Given the description of an element on the screen output the (x, y) to click on. 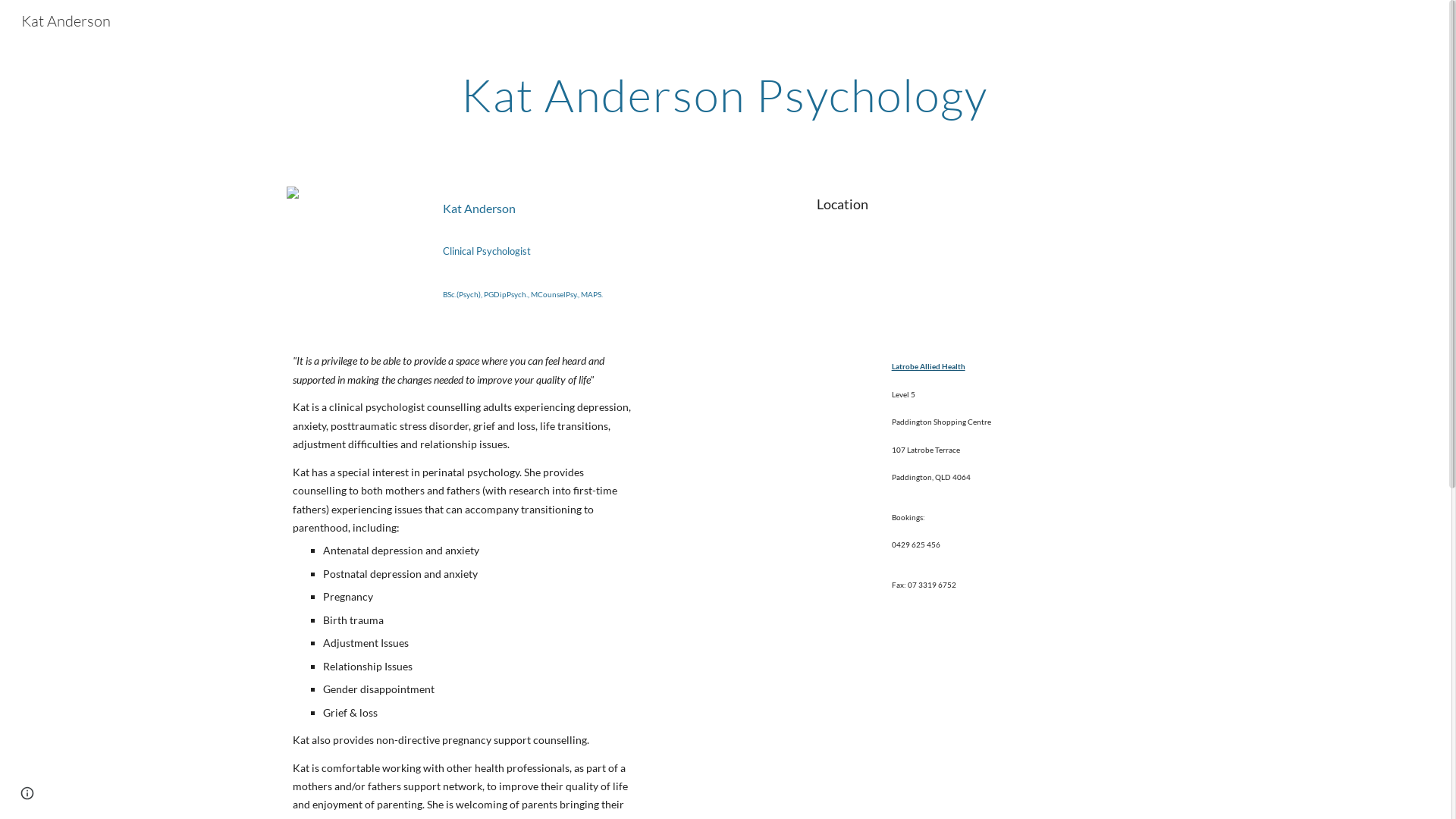
Latrobe Allied Health Element type: text (928, 364)
Kat Anderson Element type: text (65, 18)
